Given the description of an element on the screen output the (x, y) to click on. 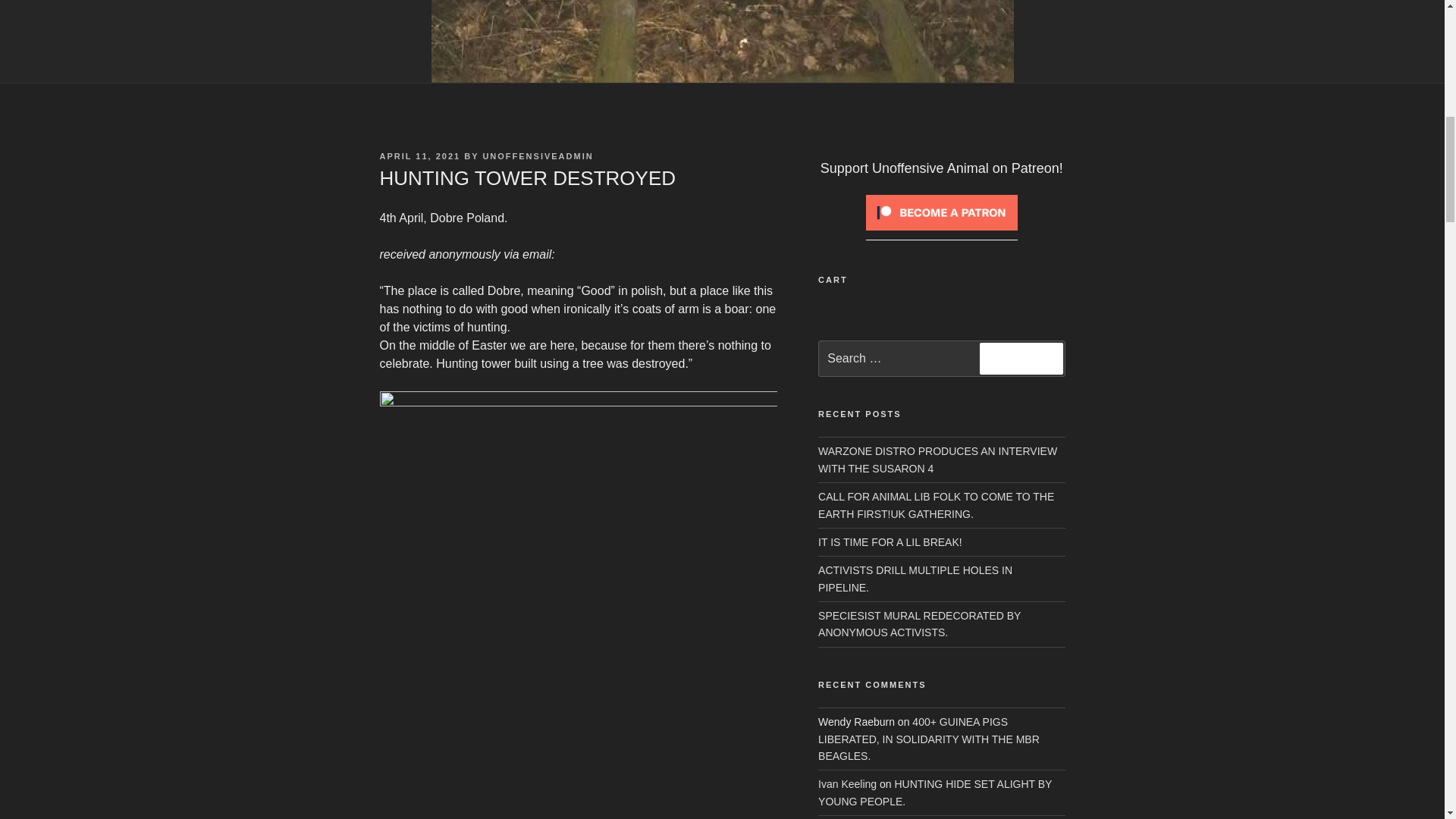
SPECIESIST MURAL REDECORATED BY ANONYMOUS ACTIVISTS. (919, 623)
APRIL 11, 2021 (419, 155)
Search (1020, 358)
WARZONE DISTRO PRODUCES AN INTERVIEW WITH THE SUSARON 4 (937, 459)
Ivan Keeling (847, 784)
UNOFFENSIVEADMIN (536, 155)
IT IS TIME FOR A LIL BREAK! (890, 541)
ACTIVISTS DRILL MULTIPLE HOLES IN PIPELINE. (914, 578)
